Given the description of an element on the screen output the (x, y) to click on. 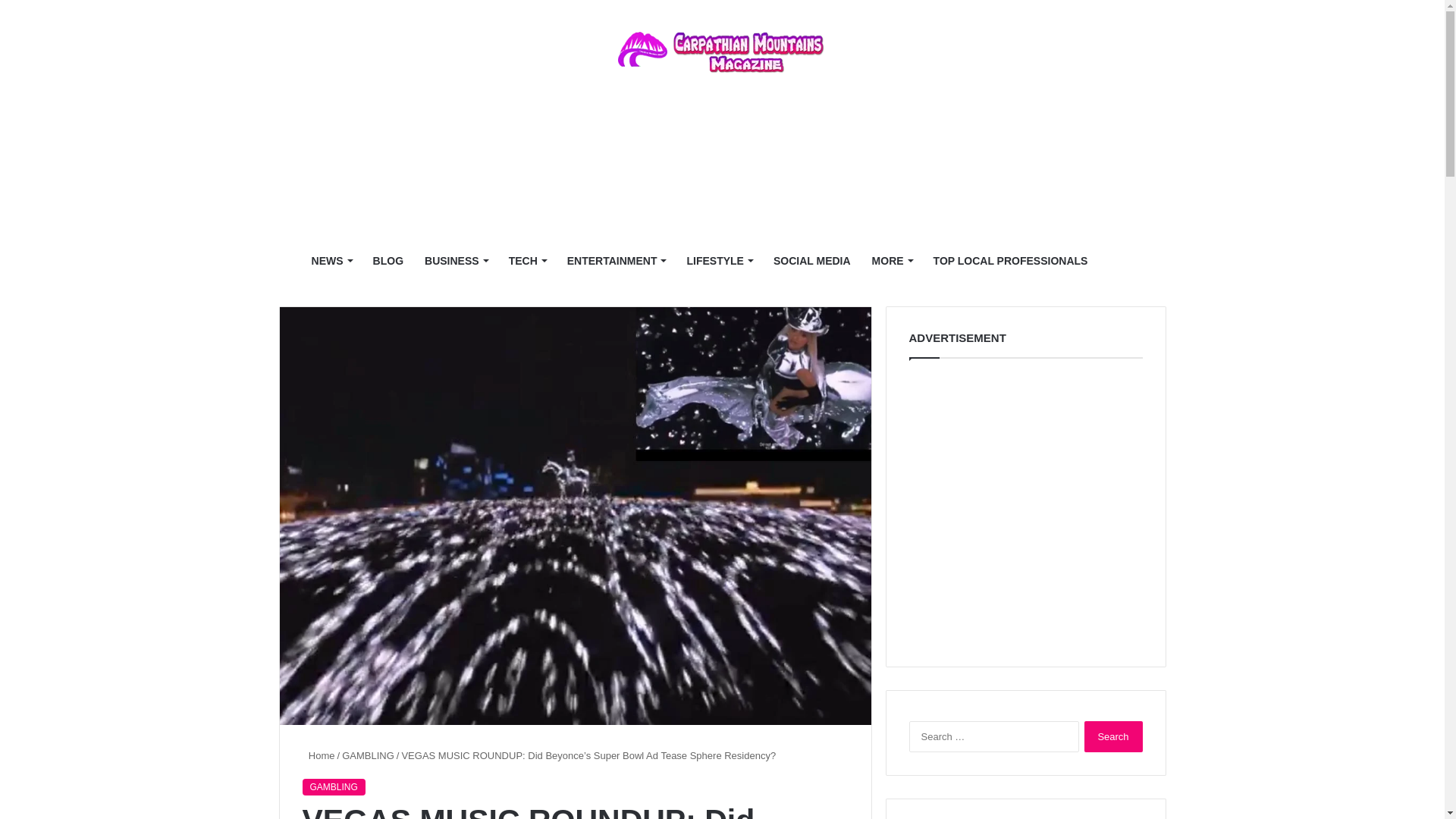
MORE (892, 260)
Search (1113, 736)
SOCIAL MEDIA (811, 260)
LIFESTYLE (718, 260)
carpathiam mountain magazine (722, 52)
BUSINESS (455, 260)
TECH (526, 260)
ENTERTAINMENT (616, 260)
Search (1113, 736)
NEWS (331, 260)
BLOG (387, 260)
